Given the description of an element on the screen output the (x, y) to click on. 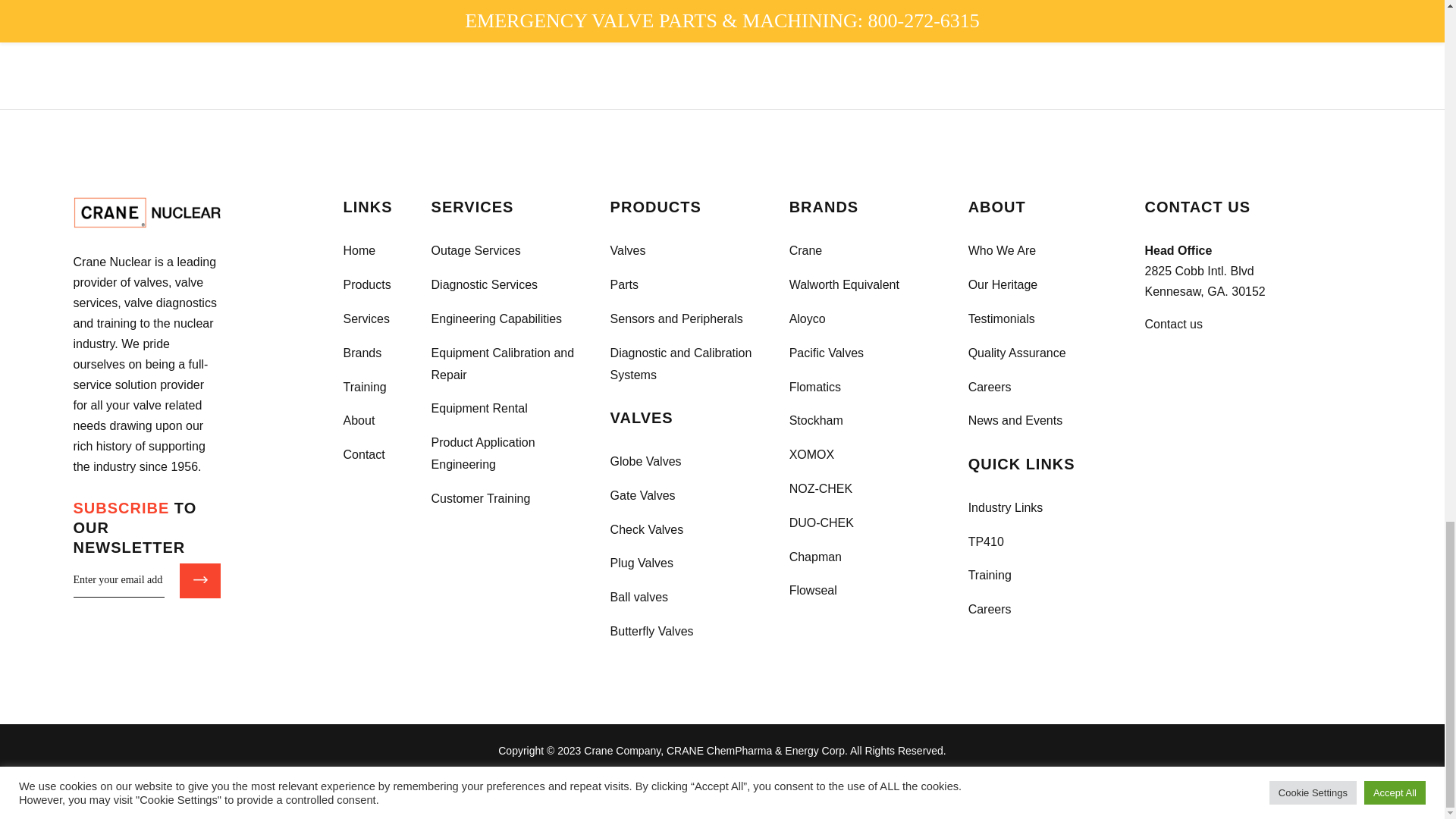
news-LOGO (146, 212)
Sign up (200, 580)
